Given the description of an element on the screen output the (x, y) to click on. 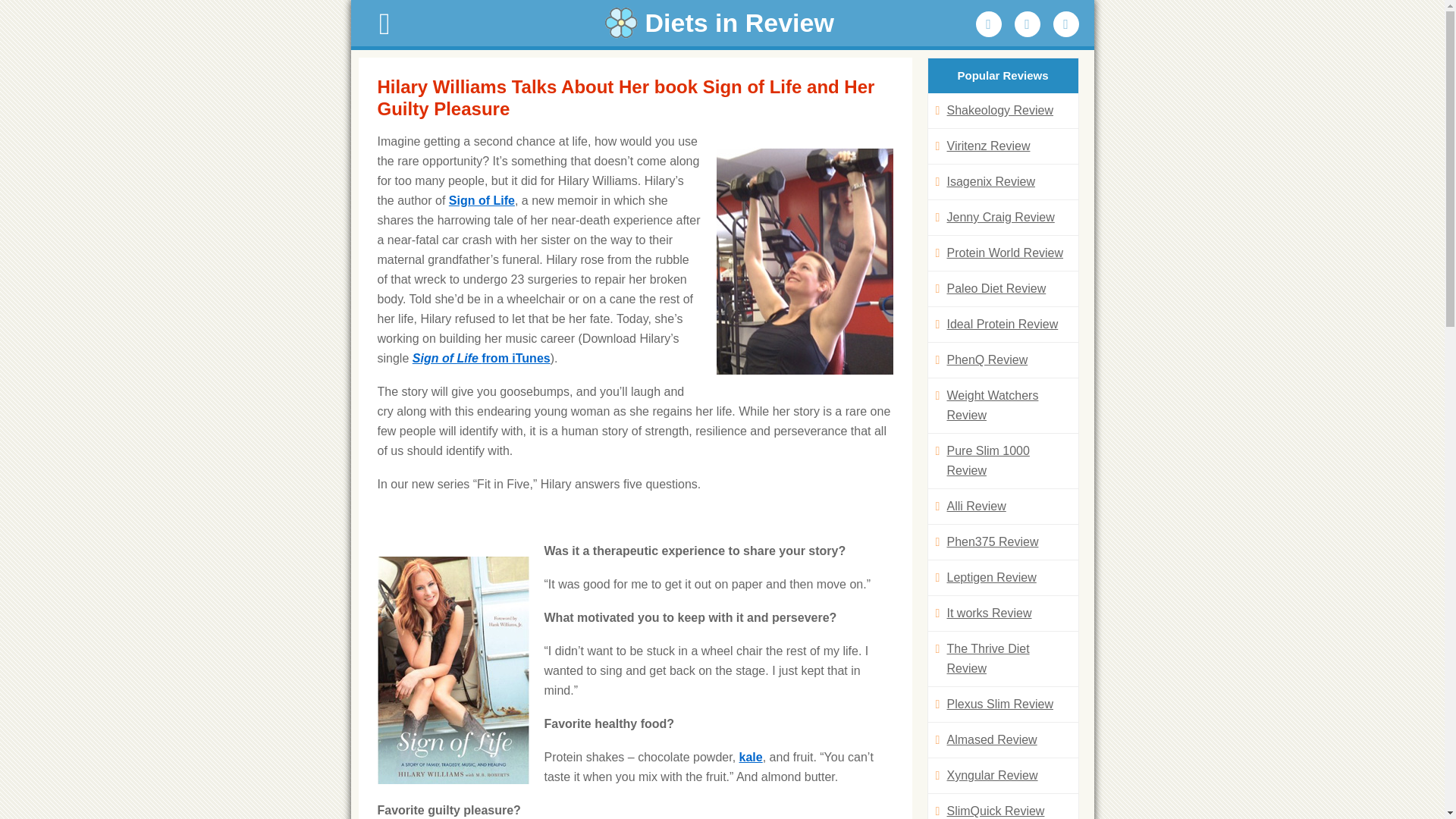
Diets in Review (722, 22)
itunes (481, 358)
sign of life (481, 200)
kale recipes (750, 757)
Share with Facebook (988, 23)
Sign of Life (481, 200)
Diets in Review Blog (722, 22)
Add to Twitter (1027, 23)
Sign of Life from iTunes (481, 358)
